Given the description of an element on the screen output the (x, y) to click on. 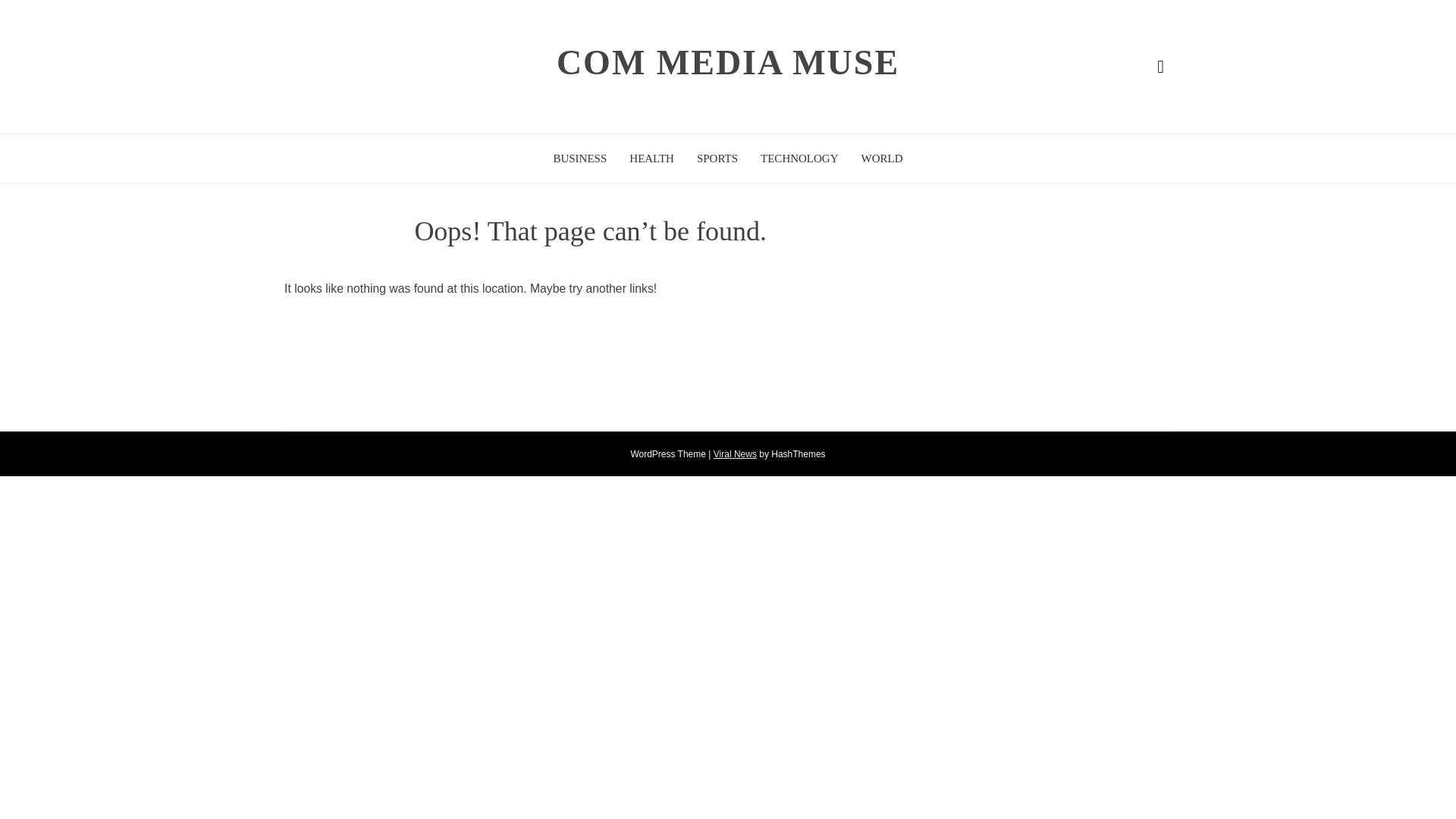
TECHNOLOGY (799, 158)
BUSINESS (580, 158)
WORLD (881, 158)
COM MEDIA MUSE (727, 62)
HEALTH (651, 158)
SPORTS (717, 158)
Viral News (735, 453)
Download Viral News (735, 453)
